Given the description of an element on the screen output the (x, y) to click on. 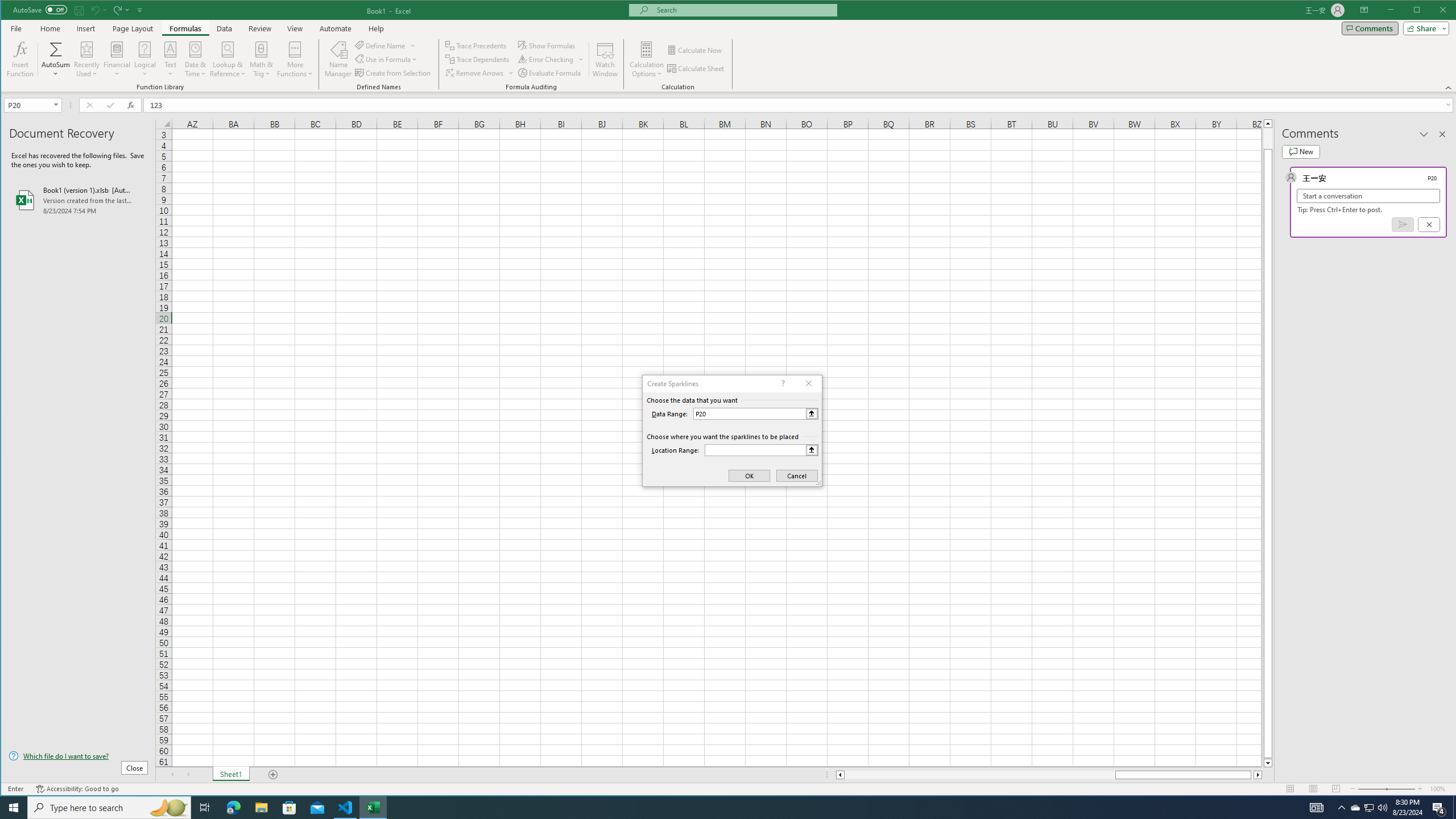
Class: MsoCommandBar (728, 45)
Microsoft search (742, 10)
Math & Trig (261, 59)
Remove Arrows (480, 72)
Define Name... (381, 45)
Show Formulas (547, 45)
Insert Function... (19, 59)
